Given the description of an element on the screen output the (x, y) to click on. 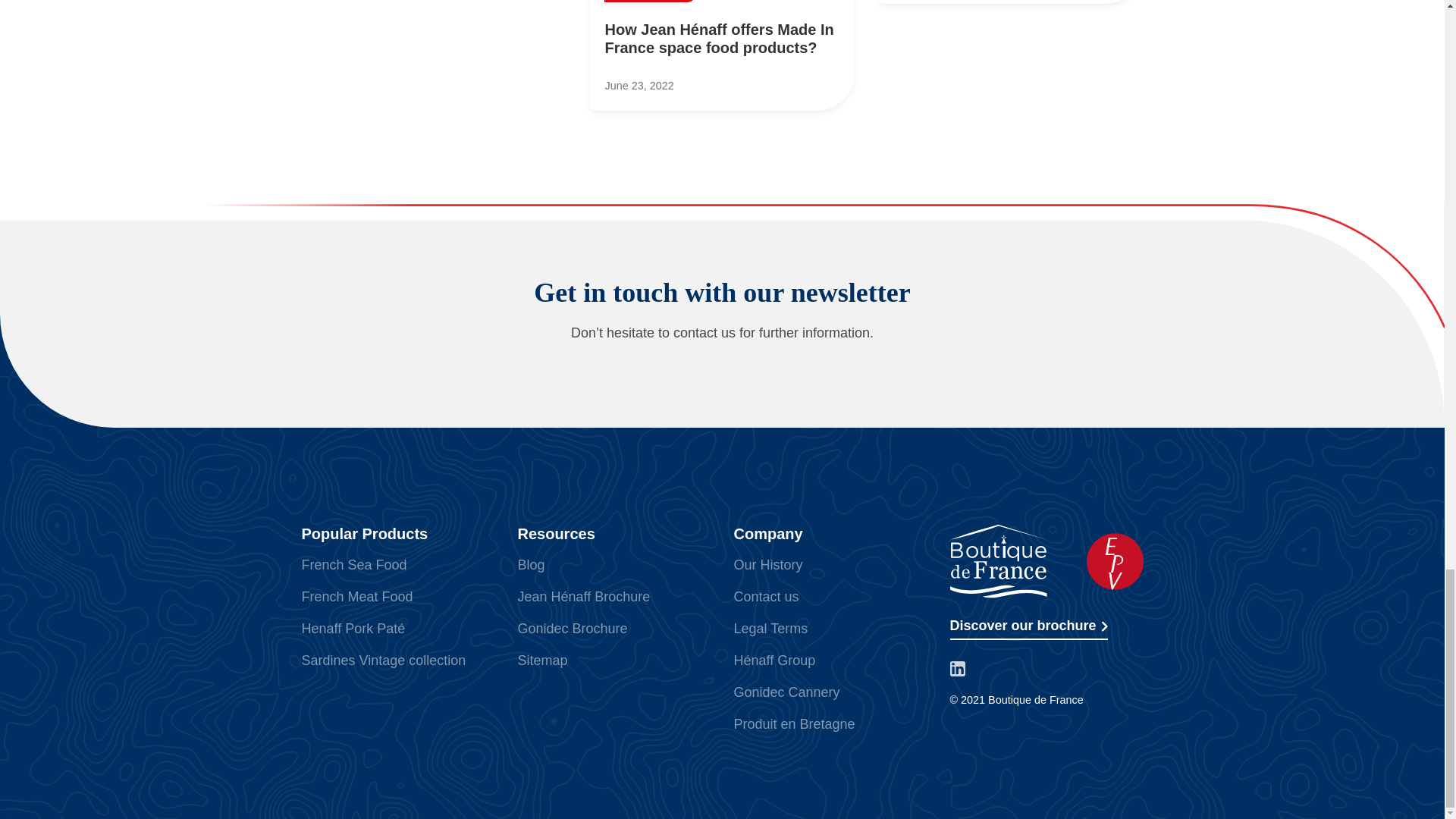
Discover our brochure (1027, 627)
Legal Terms (770, 628)
Gonidec Cannery (786, 692)
Sitemap (541, 660)
Blog (530, 564)
Gonidec Brochure (571, 628)
Contact us (766, 596)
Sardines Vintage collection (383, 660)
French Sea Food (354, 564)
Our History (768, 564)
French Meat Food (357, 596)
Produit en Bretagne (794, 724)
